Given the description of an element on the screen output the (x, y) to click on. 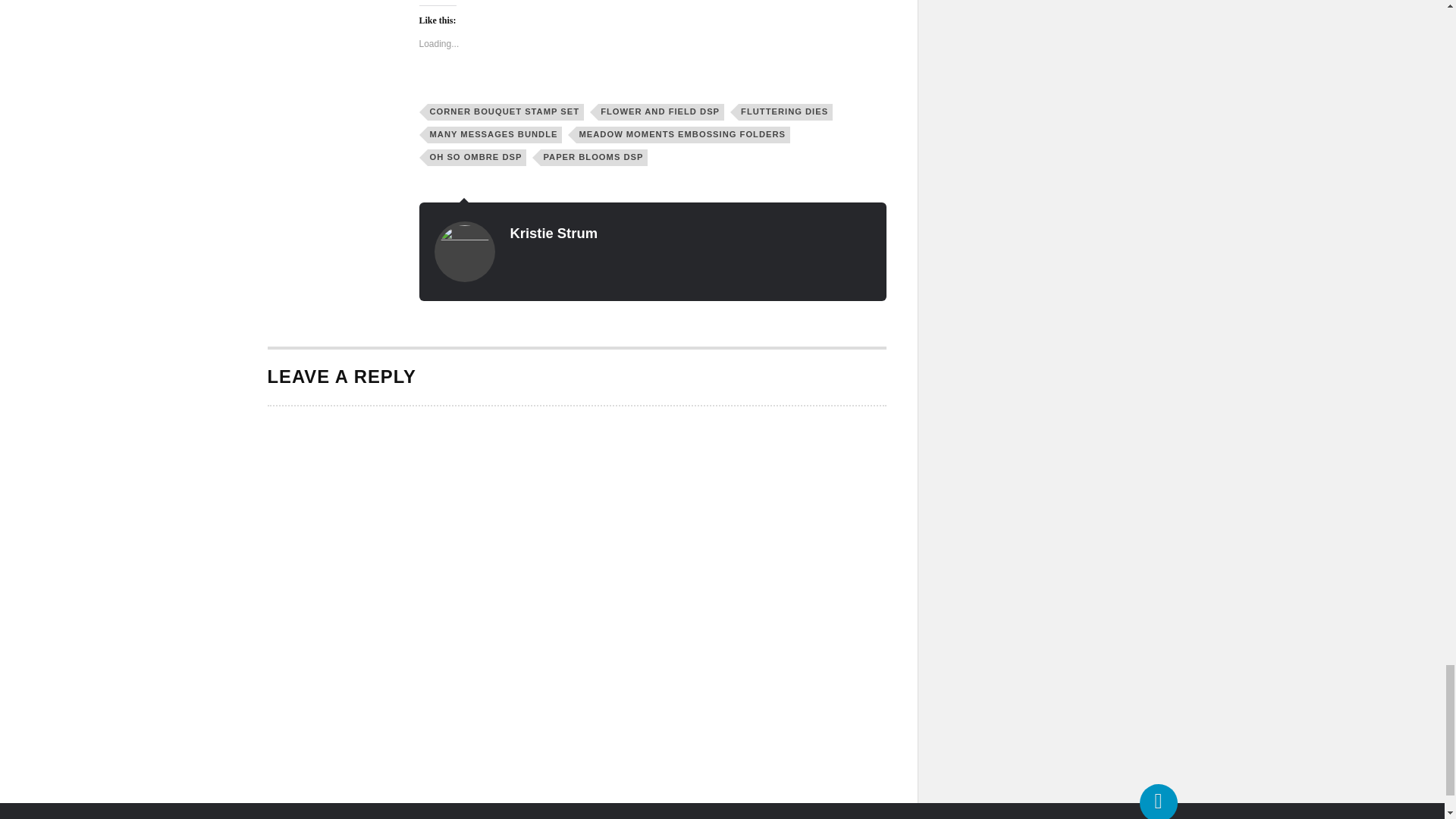
FLOWER AND FIELD DSP (660, 112)
FLUTTERING DIES (785, 112)
CORNER BOUQUET STAMP SET (506, 112)
MANY MESSAGES BUNDLE (495, 134)
